Given the description of an element on the screen output the (x, y) to click on. 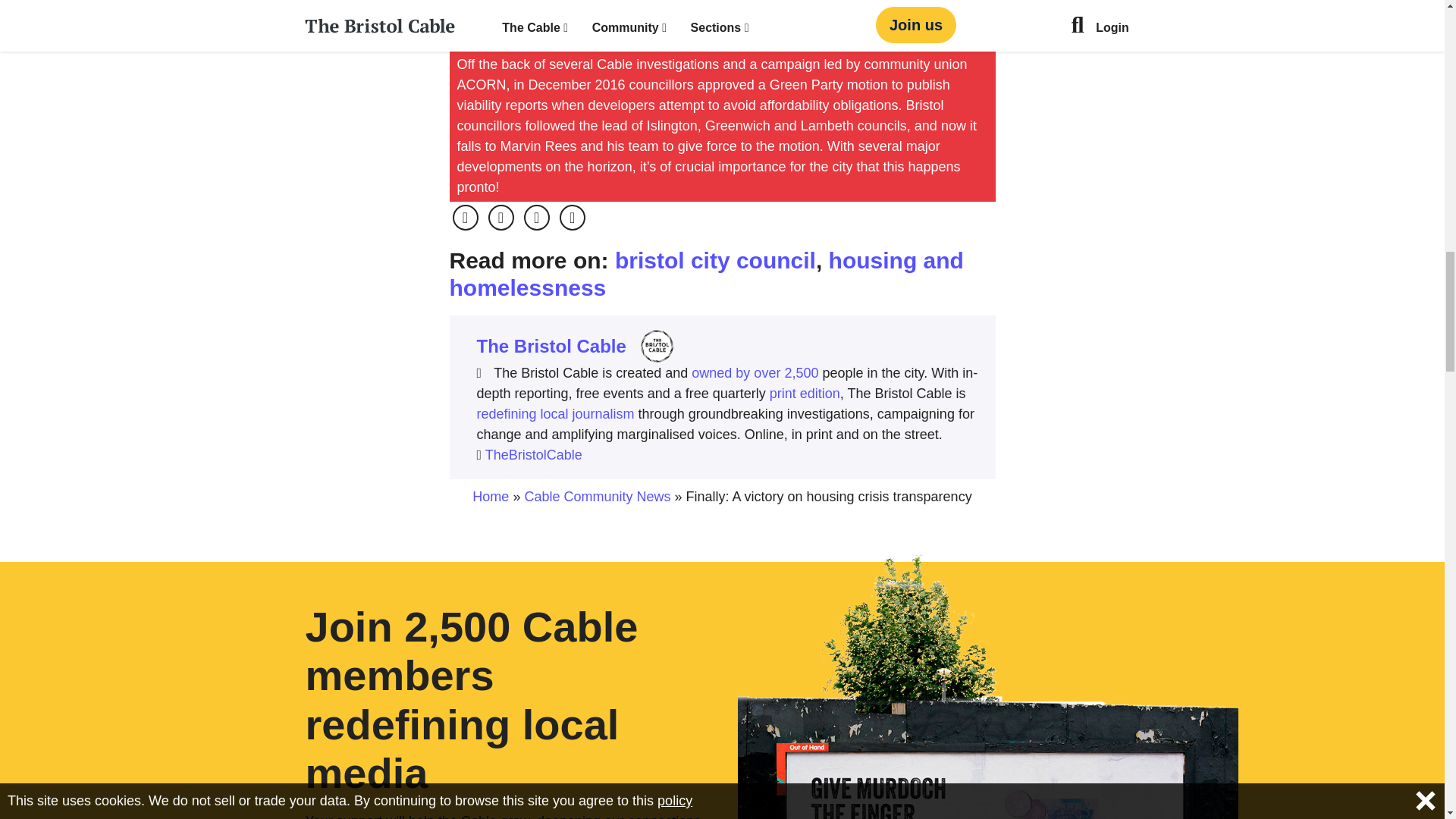
Opens in a new tab (533, 454)
Opens in a new tab (464, 217)
Posts by The Bristol Cable (551, 346)
Opens in a new tab (537, 217)
Opens in a new tab (500, 217)
